Given the description of an element on the screen output the (x, y) to click on. 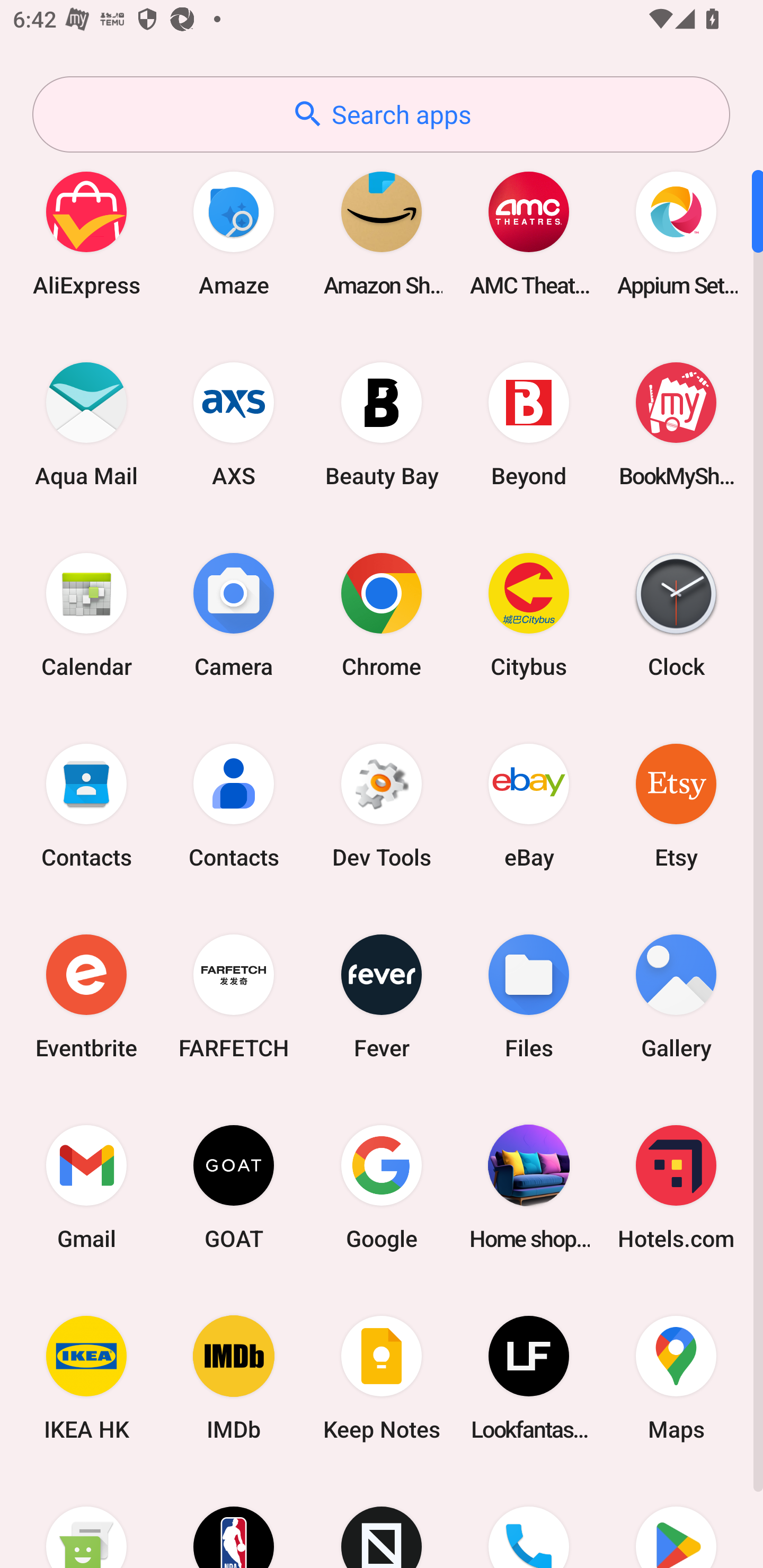
  Search apps (381, 114)
AliExpress (86, 233)
Amaze (233, 233)
Amazon Shopping (381, 233)
AMC Theatres (528, 233)
Appium Settings (676, 233)
Aqua Mail (86, 424)
AXS (233, 424)
Beauty Bay (381, 424)
Beyond (528, 424)
BookMyShow (676, 424)
Calendar (86, 614)
Camera (233, 614)
Chrome (381, 614)
Citybus (528, 614)
Clock (676, 614)
Contacts (86, 805)
Contacts (233, 805)
Dev Tools (381, 805)
eBay (528, 805)
Etsy (676, 805)
Eventbrite (86, 996)
FARFETCH (233, 996)
Fever (381, 996)
Files (528, 996)
Gallery (676, 996)
Gmail (86, 1186)
GOAT (233, 1186)
Google (381, 1186)
Home shopping (528, 1186)
Hotels.com (676, 1186)
IKEA HK (86, 1377)
IMDb (233, 1377)
Keep Notes (381, 1377)
Lookfantastic (528, 1377)
Maps (676, 1377)
Messaging (86, 1520)
NBA (233, 1520)
Novelship (381, 1520)
Phone (528, 1520)
Play Store (676, 1520)
